Given the description of an element on the screen output the (x, y) to click on. 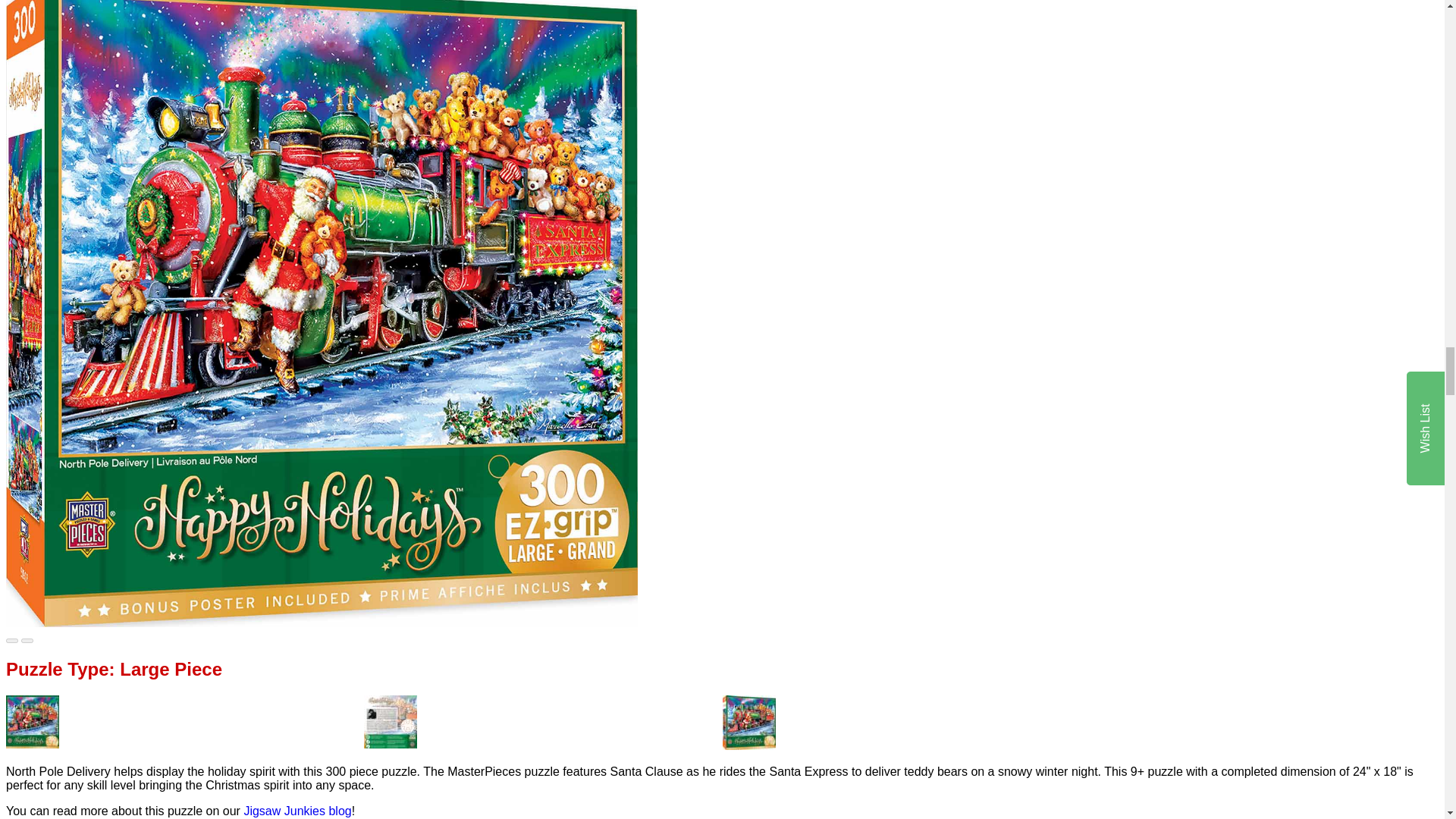
Back (11, 640)
Next (27, 640)
